Given the description of an element on the screen output the (x, y) to click on. 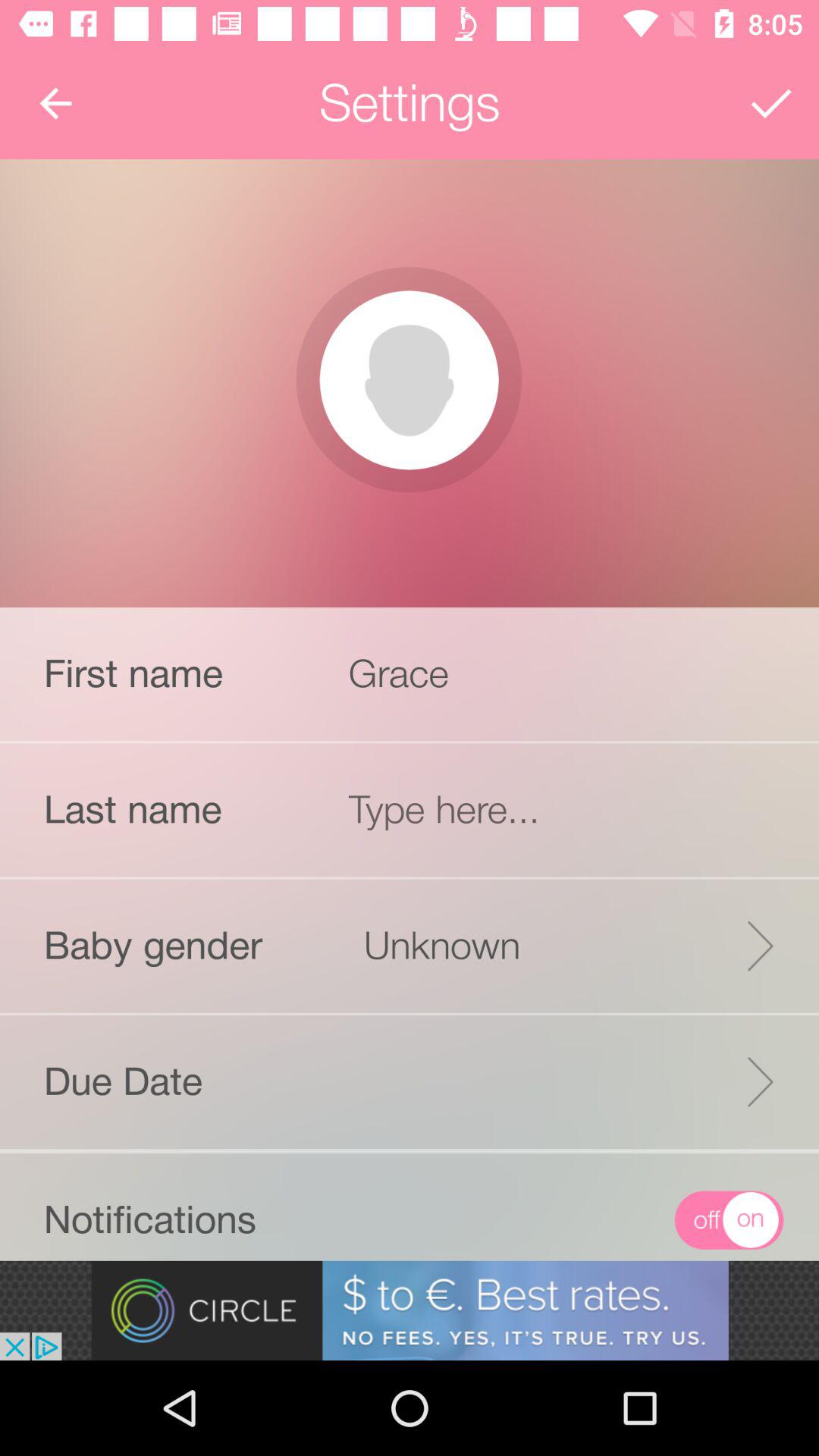
button image (408, 379)
